Given the description of an element on the screen output the (x, y) to click on. 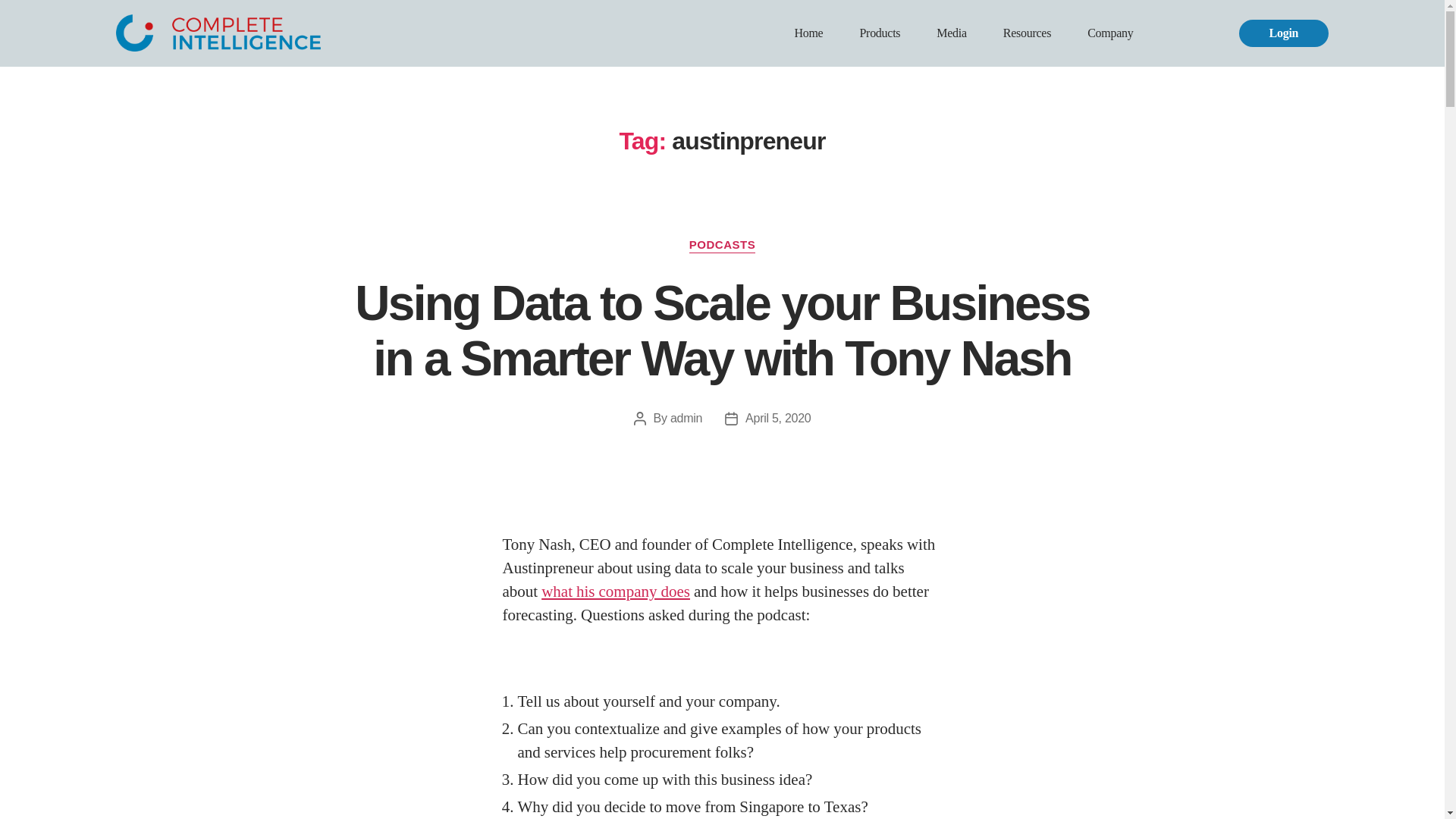
Resources (1027, 33)
Home (807, 33)
Media (951, 33)
Products (879, 33)
Company (1109, 33)
